Given the description of an element on the screen output the (x, y) to click on. 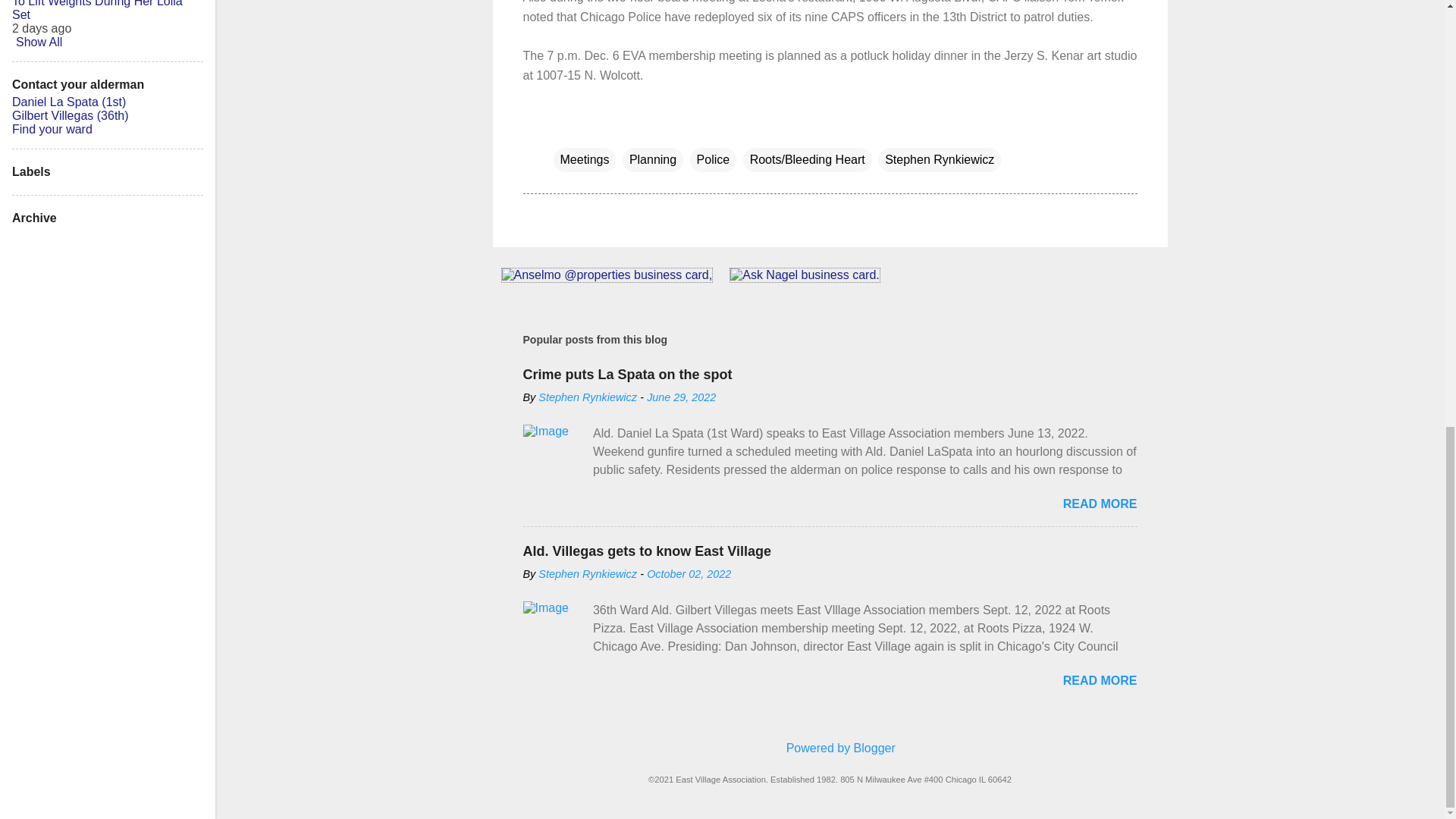
Ald. Villegas gets to know East Village (646, 550)
October 02, 2022 (688, 573)
Stephen Rynkiewicz (587, 573)
June 29, 2022 (681, 397)
Police (713, 159)
Meetings (584, 159)
Email Post (562, 128)
Powered by Blogger (829, 748)
Crime puts La Spata on the spot (627, 374)
Stephen Rynkiewicz (939, 159)
